Given the description of an element on the screen output the (x, y) to click on. 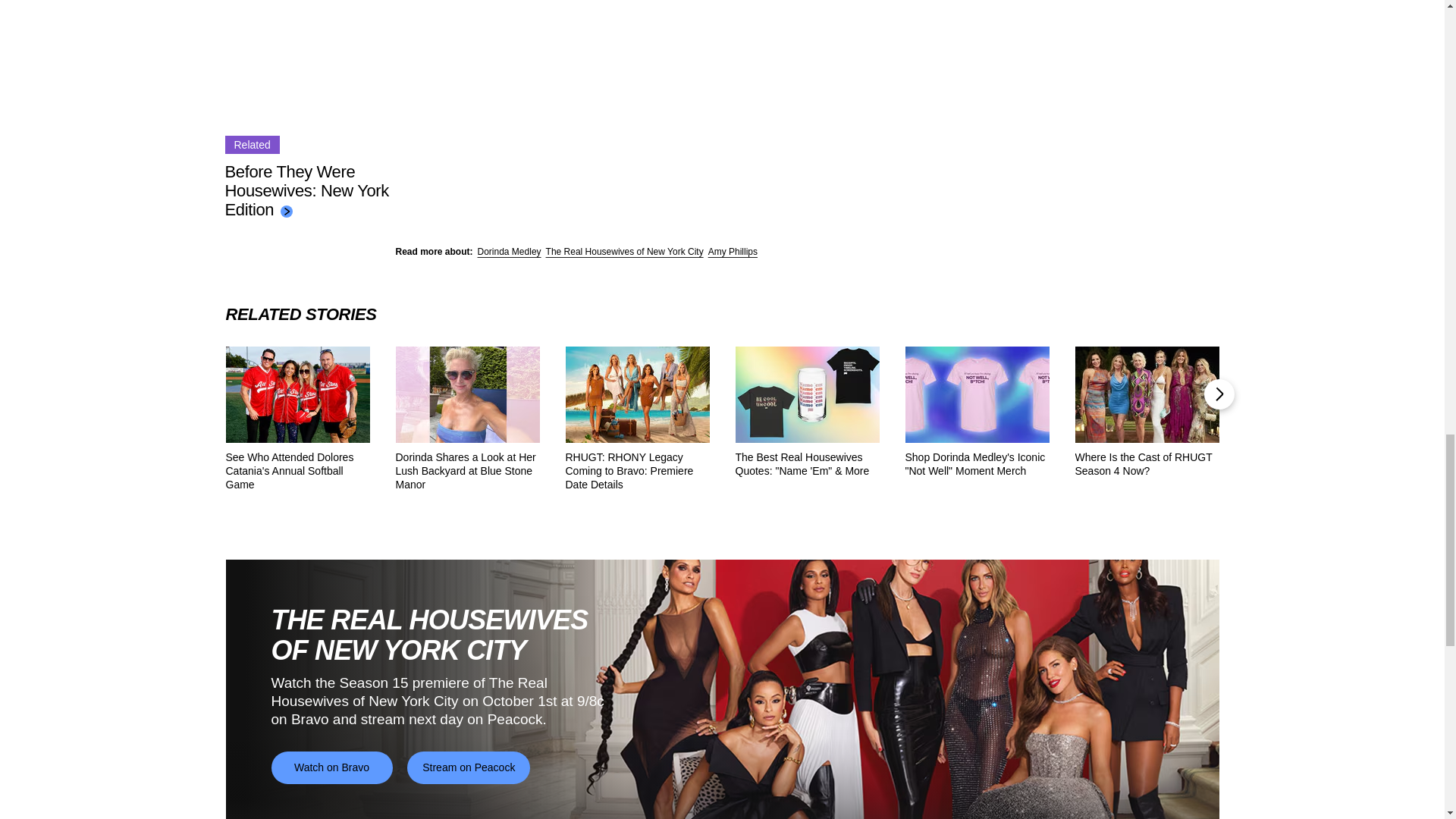
The Real Housewives of New York City (624, 251)
See Who Attended Dolores Catania's Annual Softball Game (297, 470)
Dorinda Medley (509, 251)
Amy Phillips (732, 251)
